Given the description of an element on the screen output the (x, y) to click on. 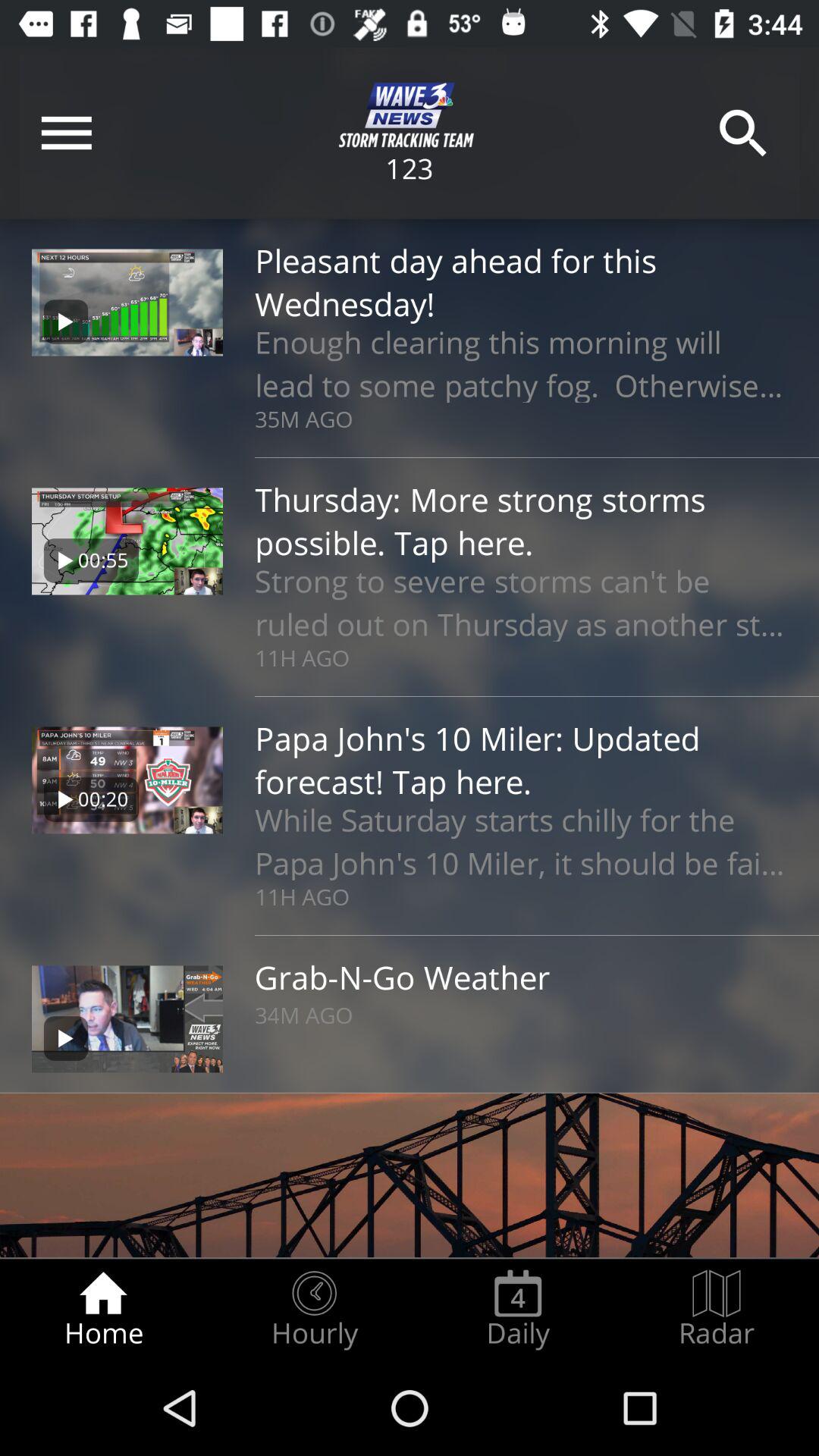
open the item next to the hourly (103, 1309)
